Given the description of an element on the screen output the (x, y) to click on. 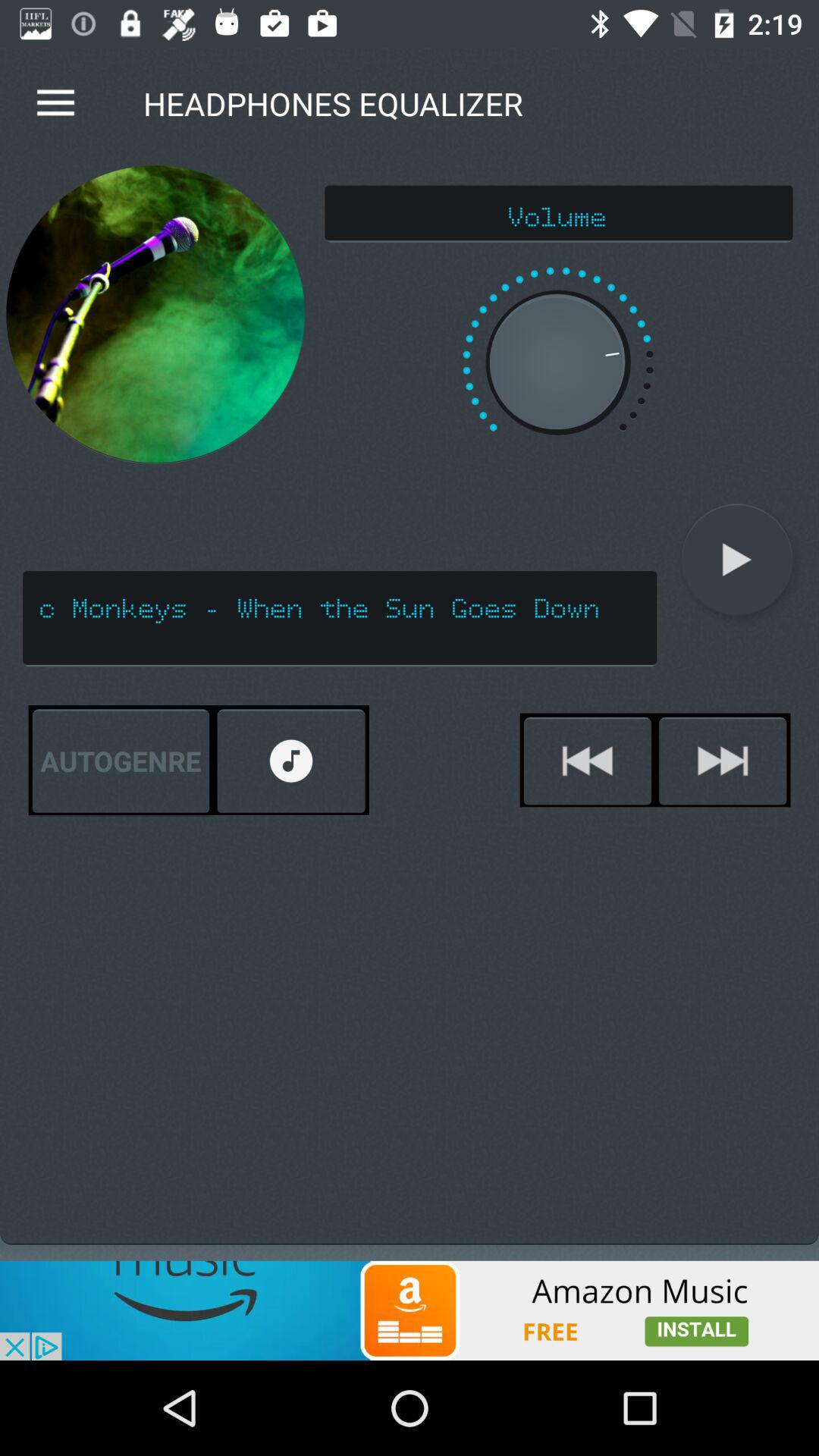
select icon to the left of volume item (155, 314)
